Given the description of an element on the screen output the (x, y) to click on. 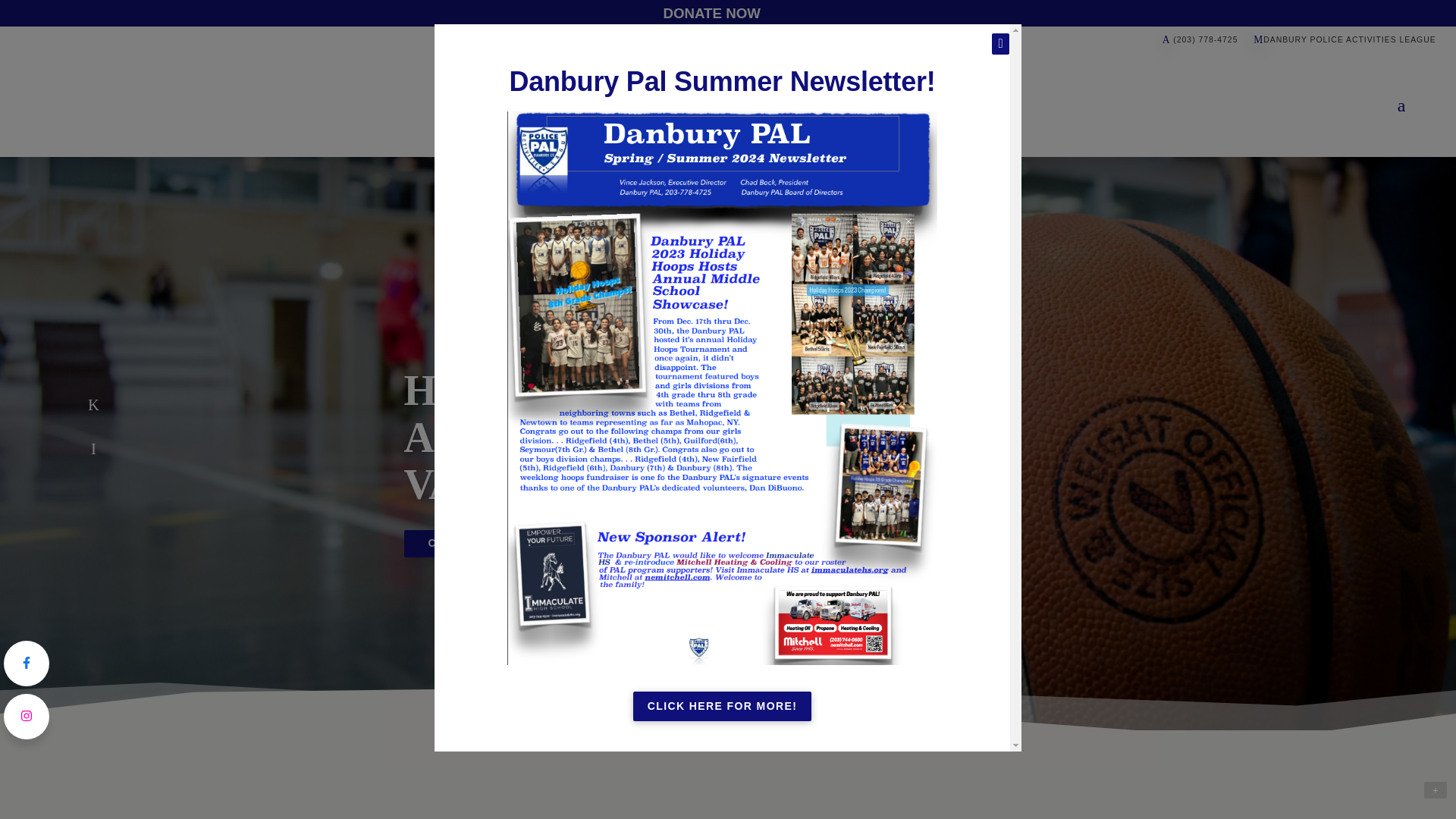
DANBURY POLICE ACTIVITIES LEAGUE (1345, 39)
Facebook (93, 404)
DONATE NOW (711, 12)
Open Menu (1401, 105)
Danbury Police Activities League (709, 105)
Instagram (92, 448)
